Given the description of an element on the screen output the (x, y) to click on. 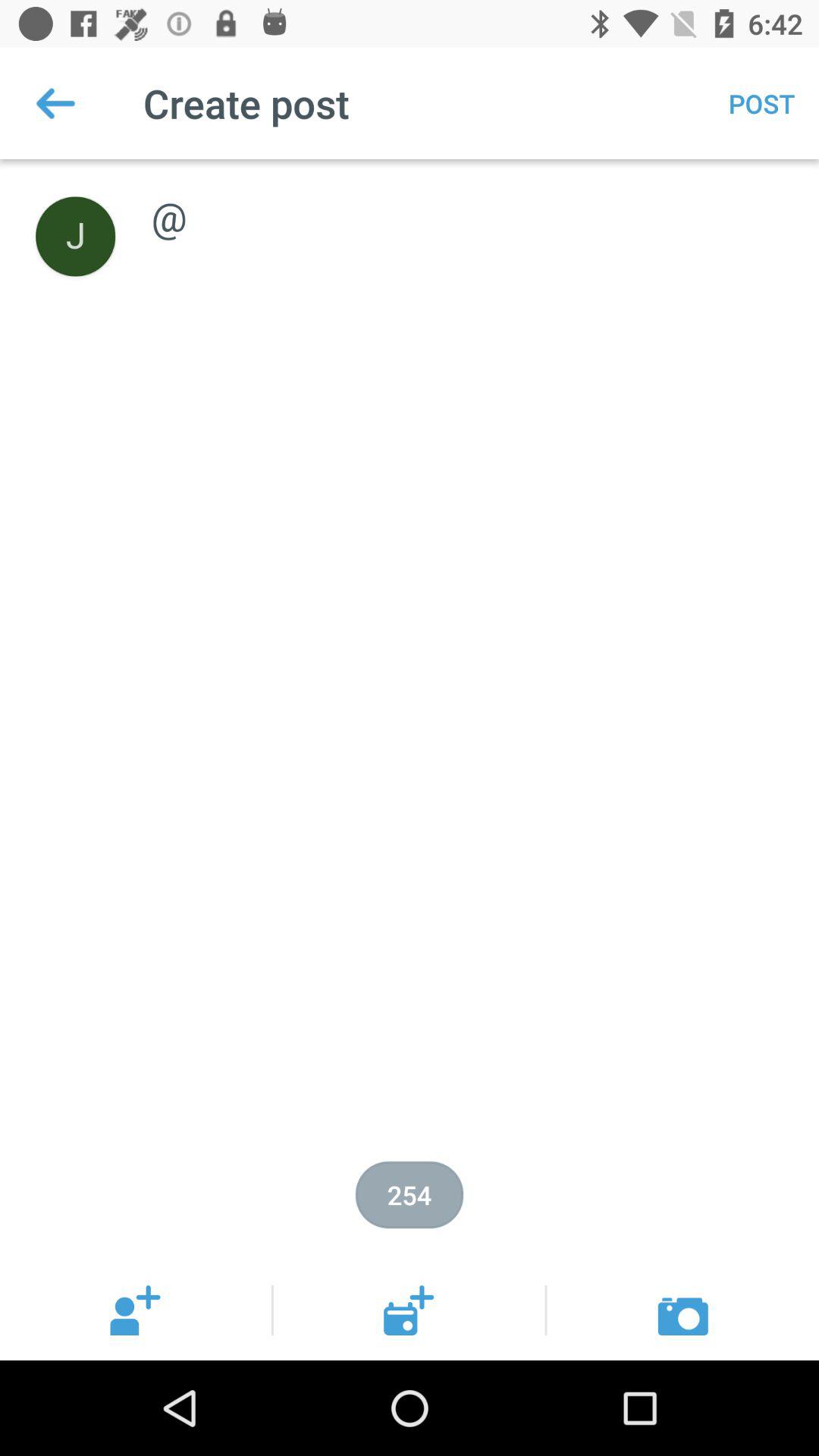
turn off the icon next to create post icon (55, 103)
